Given the description of an element on the screen output the (x, y) to click on. 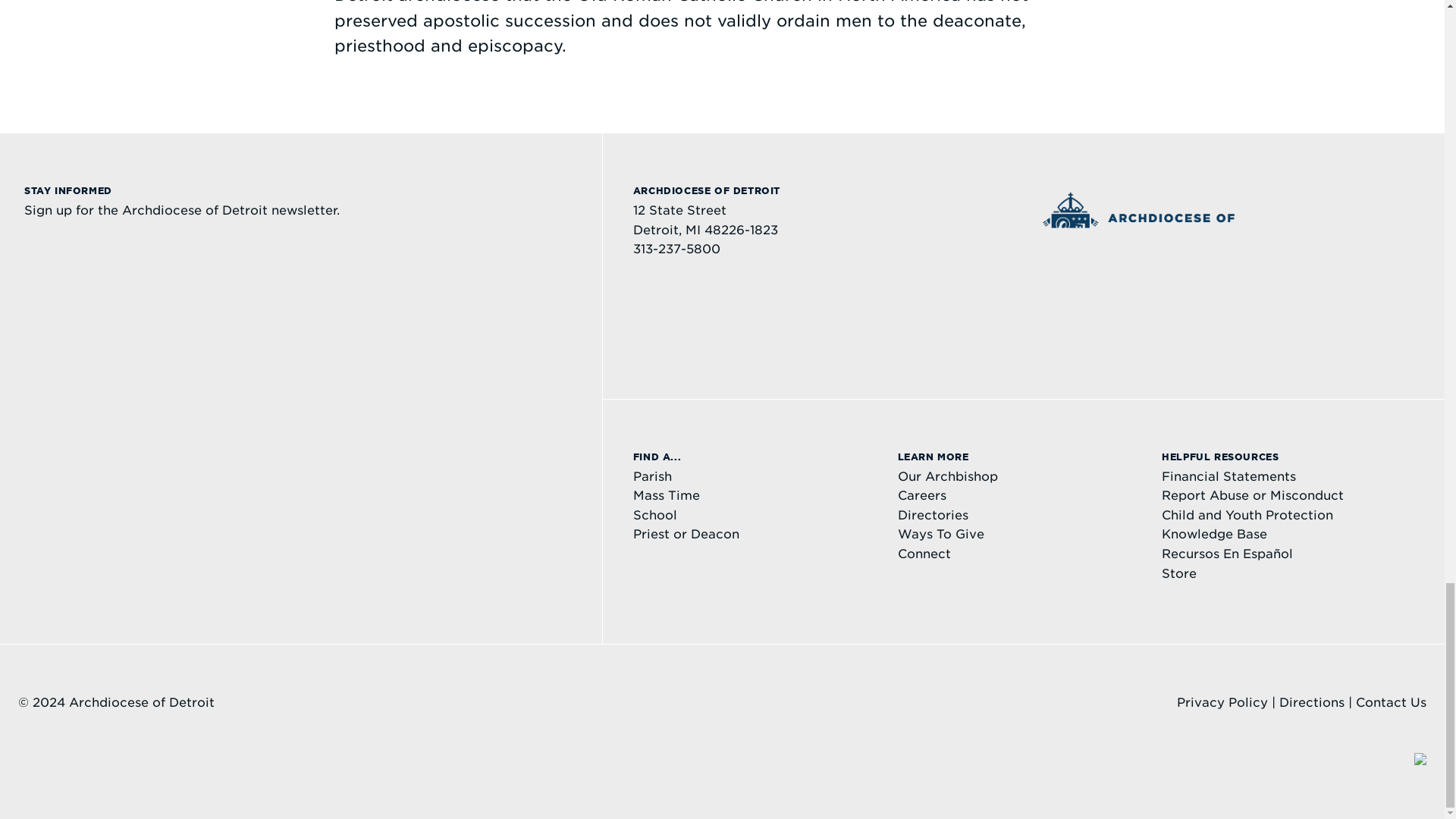
Priest or Deacon (686, 534)
Our Archbishop (947, 476)
School (655, 514)
Parish (652, 476)
Mass Time (666, 495)
Directories (933, 514)
Careers (922, 495)
